Given the description of an element on the screen output the (x, y) to click on. 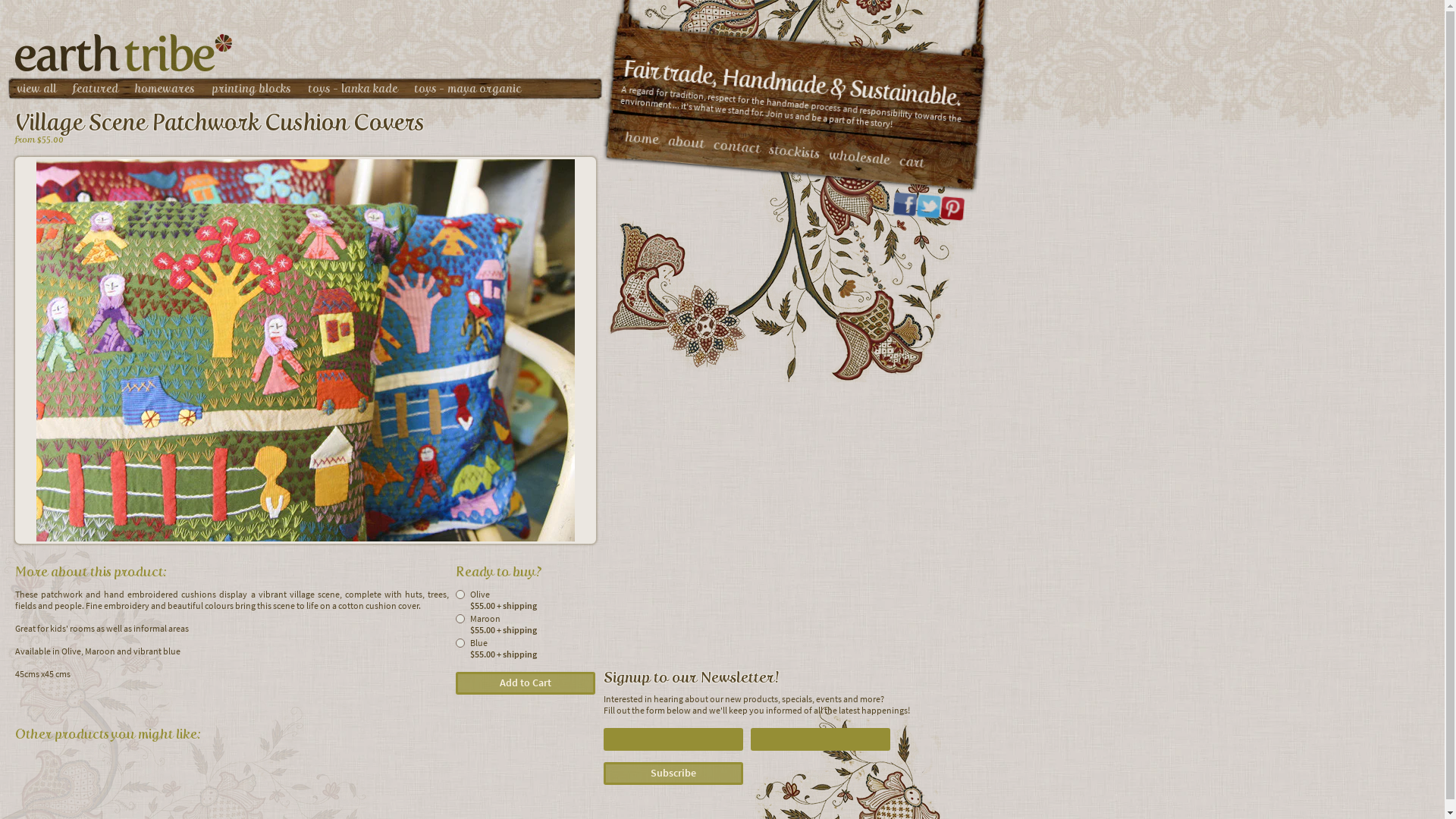
stockists Element type: text (793, 149)
homewares Element type: text (164, 88)
Subscribe Element type: text (673, 773)
featured Element type: text (95, 88)
printing blocks Element type: text (251, 88)
Name Element type: hover (673, 739)
Add to Cart Element type: text (525, 682)
wholesale Element type: text (858, 154)
home Element type: text (641, 136)
Email Element type: hover (820, 739)
contact Element type: text (735, 144)
toys - maya organic Element type: text (467, 88)
cart Element type: text (910, 160)
toys - lanka kade Element type: text (352, 88)
view all Element type: text (36, 88)
about Element type: text (685, 139)
